Given the description of an element on the screen output the (x, y) to click on. 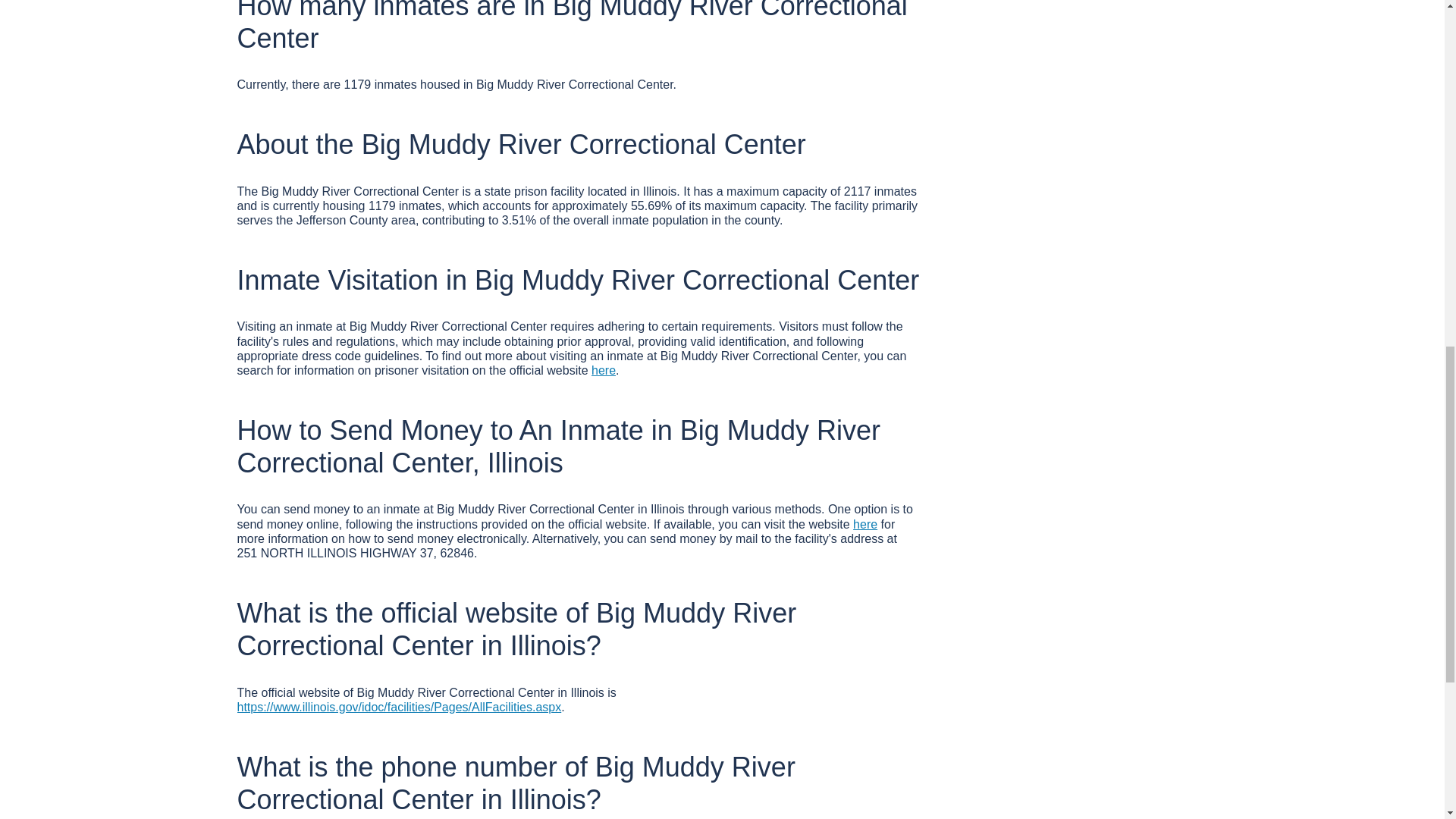
here (865, 523)
here (603, 369)
